Given the description of an element on the screen output the (x, y) to click on. 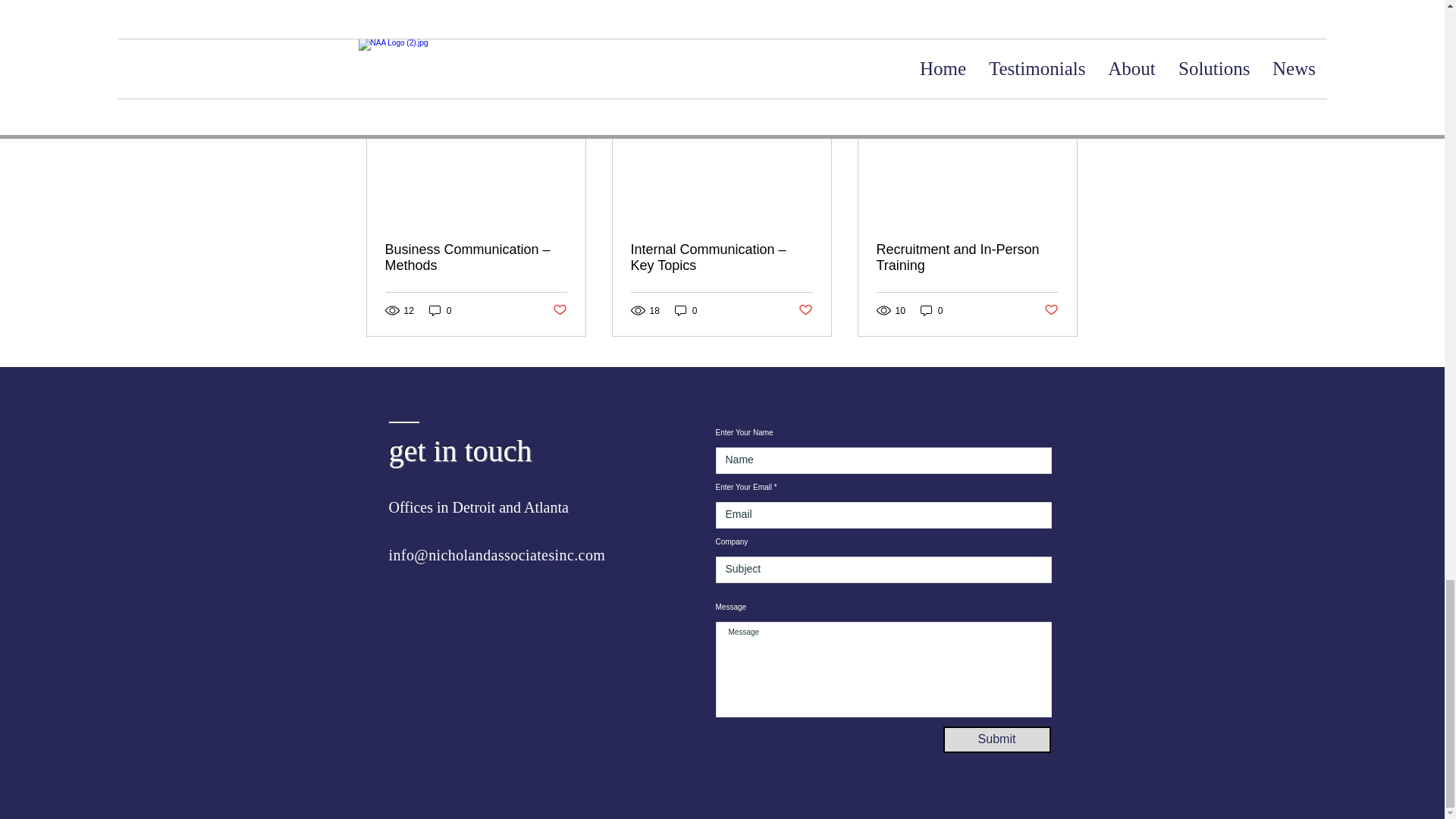
Recruitment and In-Person Training (967, 257)
0 (685, 310)
See All (1061, 74)
Post not marked as liked (804, 310)
0 (440, 310)
Post not marked as liked (558, 310)
Submit (997, 739)
0 (931, 310)
Post not marked as liked (1050, 310)
